Given the description of an element on the screen output the (x, y) to click on. 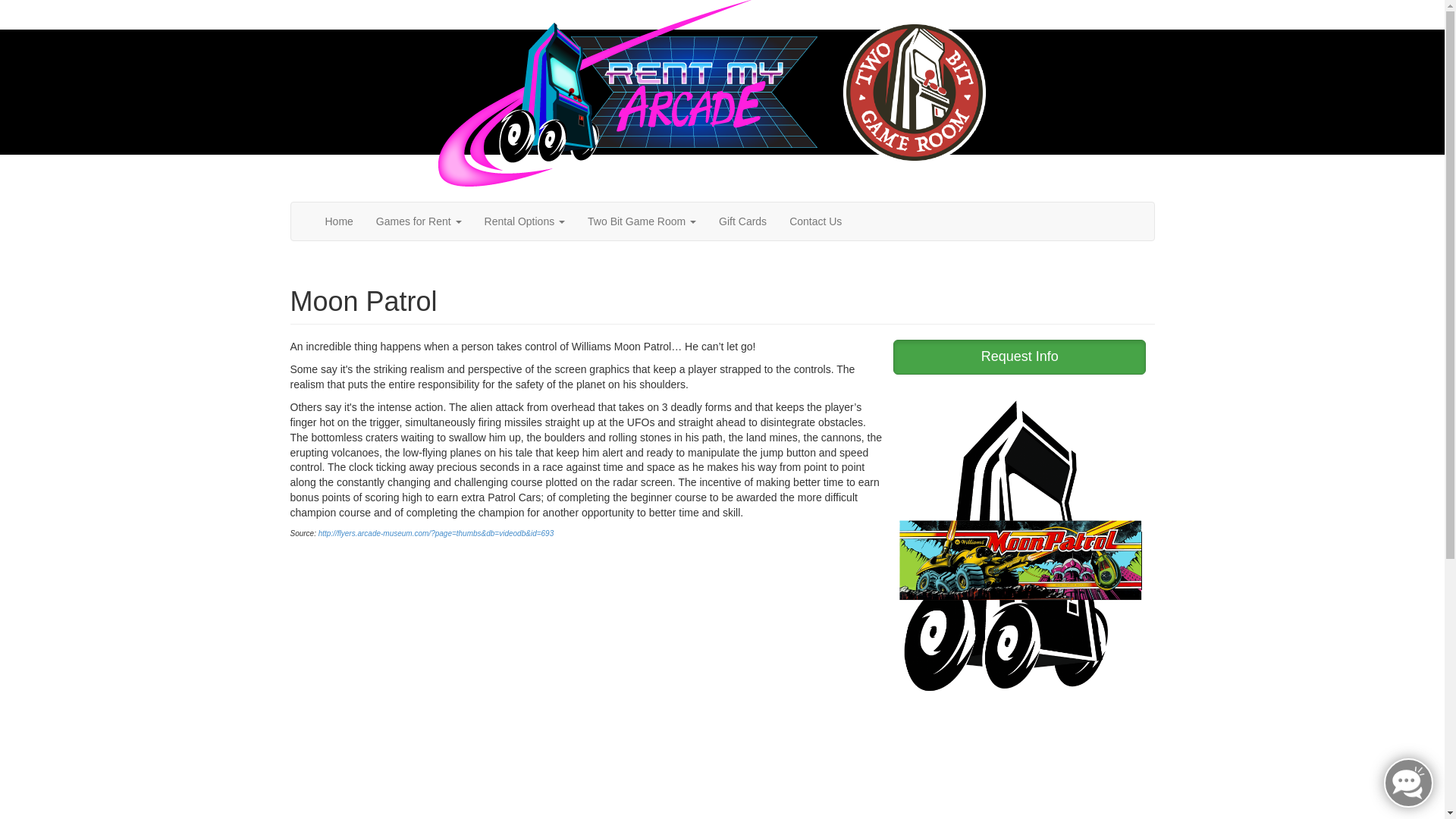
Games for Rent (419, 221)
Request Info (1019, 356)
Home (339, 221)
Contact Us (815, 221)
Gift Cards (742, 221)
Two Bit Game Room (641, 221)
Rental Options (524, 221)
